Given the description of an element on the screen output the (x, y) to click on. 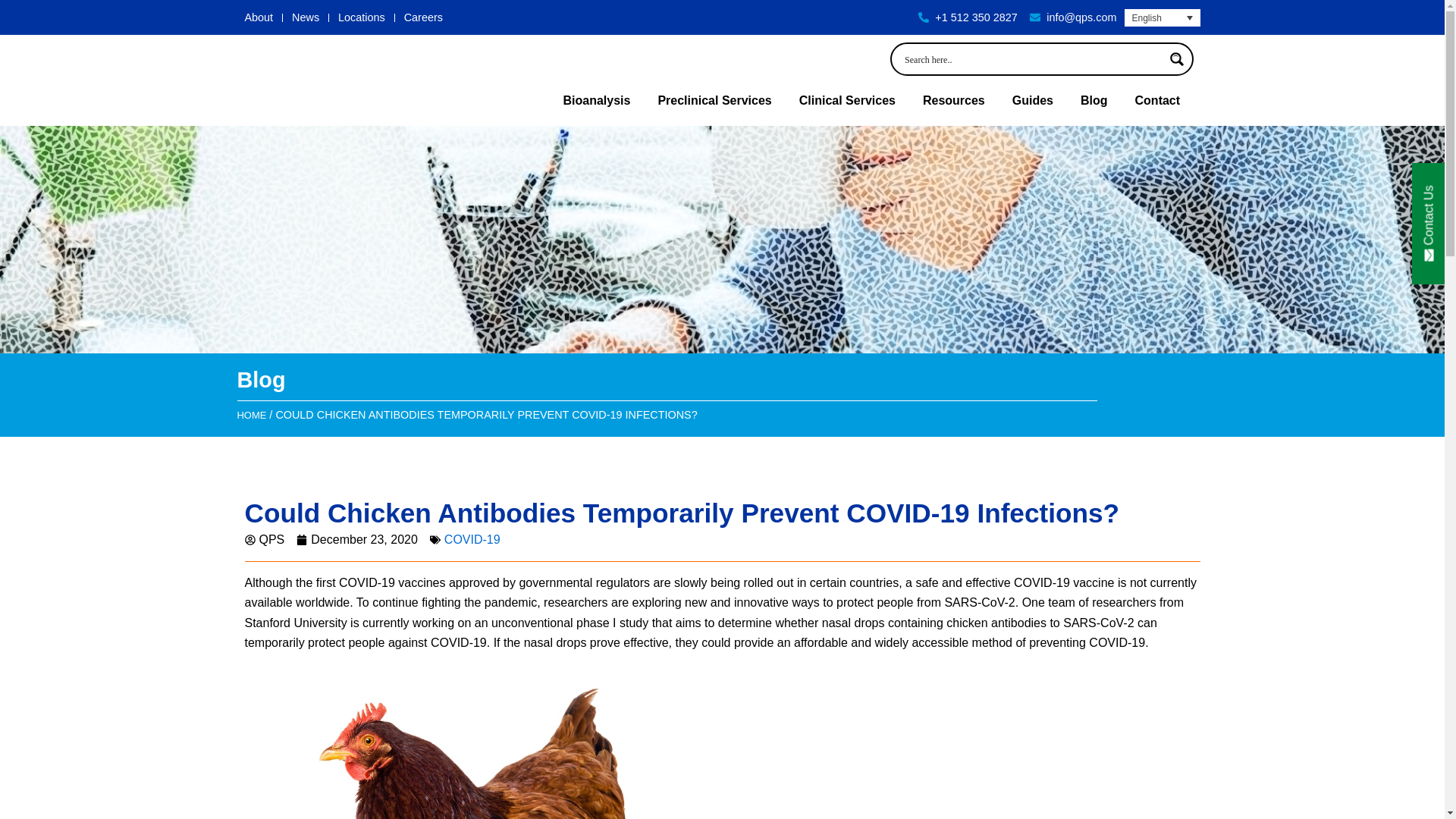
Careers (423, 17)
Clinical Services (847, 100)
Locations (361, 17)
News (305, 17)
English (1161, 17)
Preclinical Services (713, 100)
About (258, 17)
Bioanalysis (595, 100)
